Given the description of an element on the screen output the (x, y) to click on. 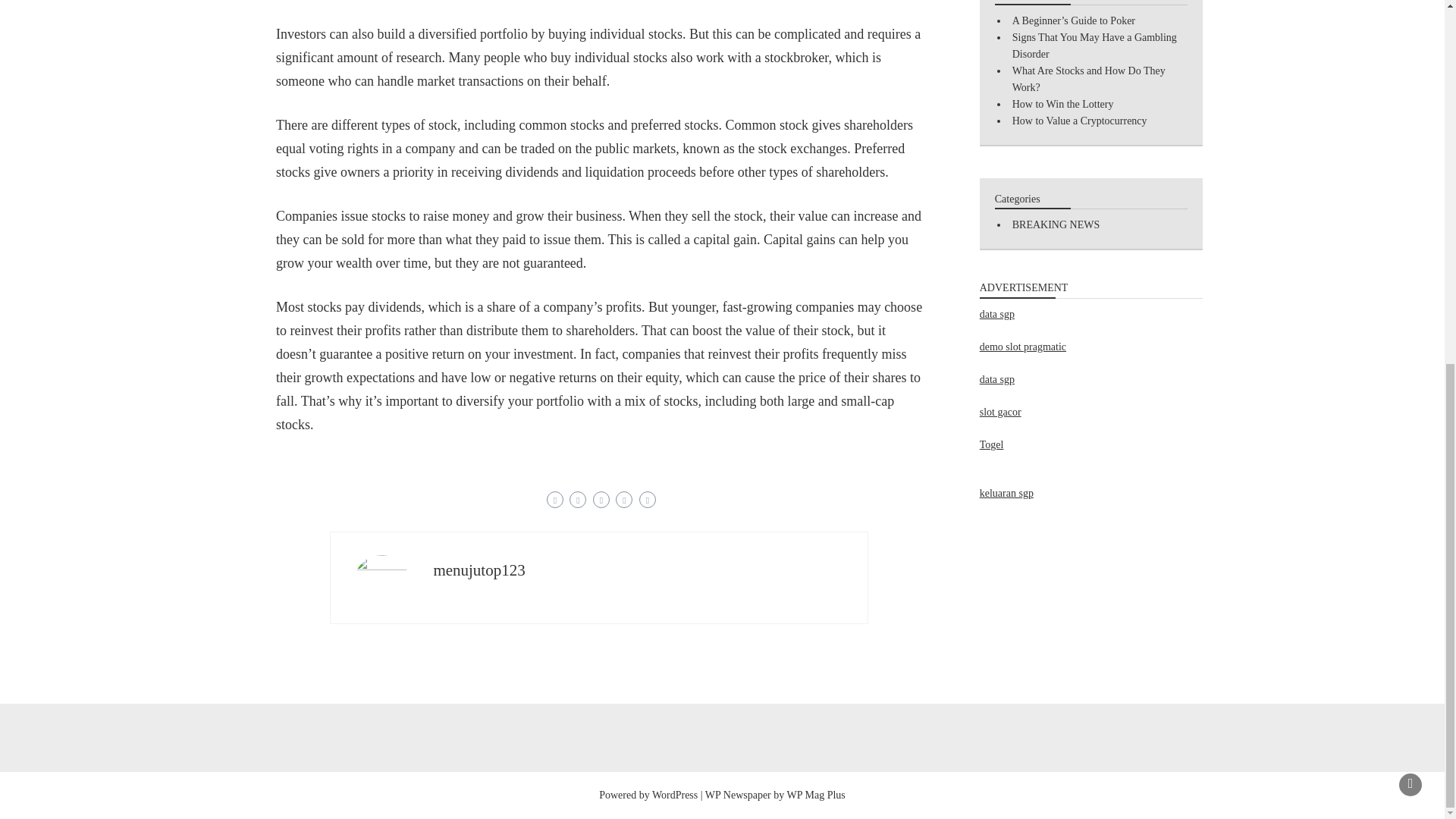
menujutop123 (478, 570)
